Given the description of an element on the screen output the (x, y) to click on. 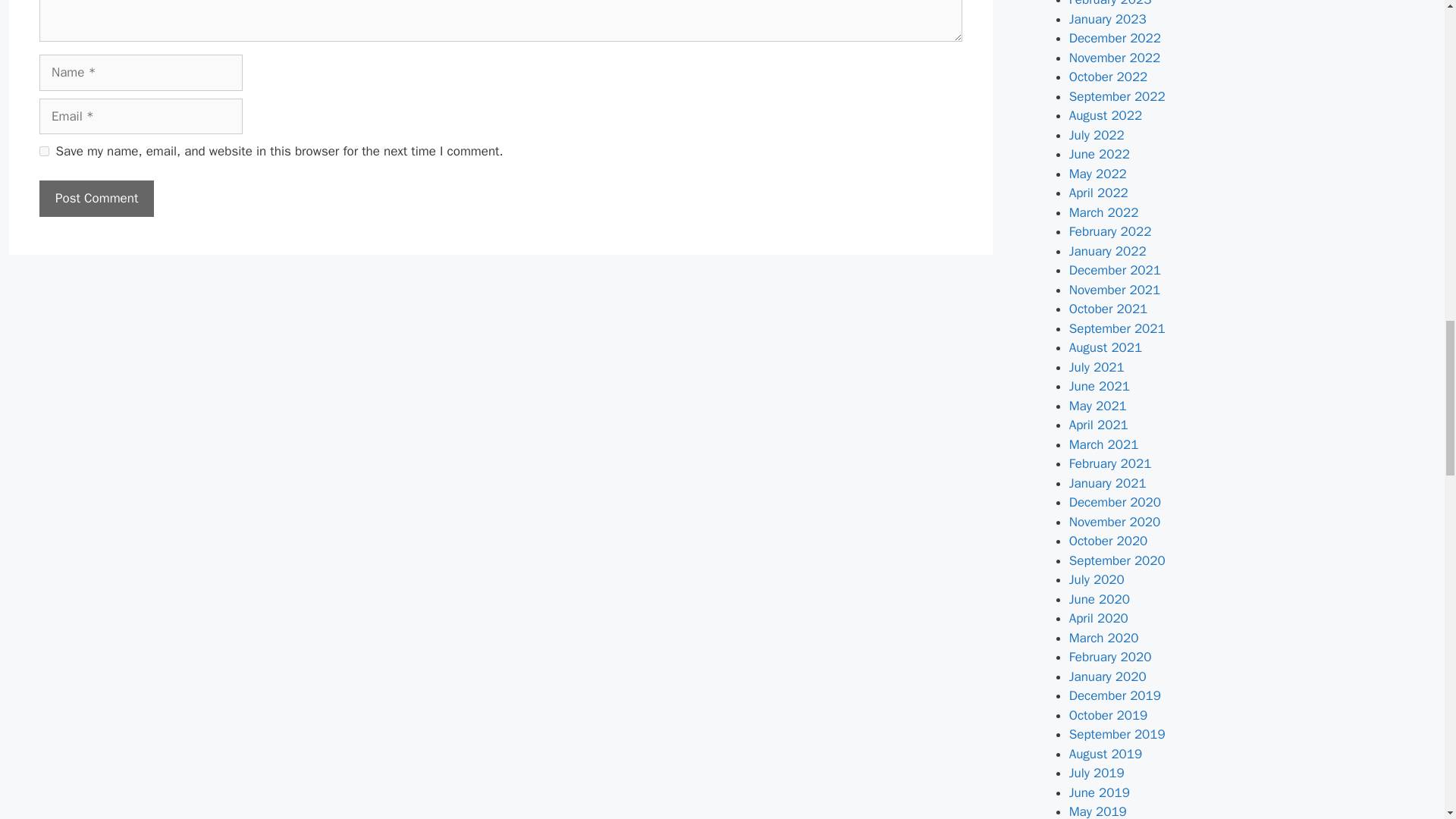
yes (44, 151)
Post Comment (96, 198)
Post Comment (96, 198)
